Given the description of an element on the screen output the (x, y) to click on. 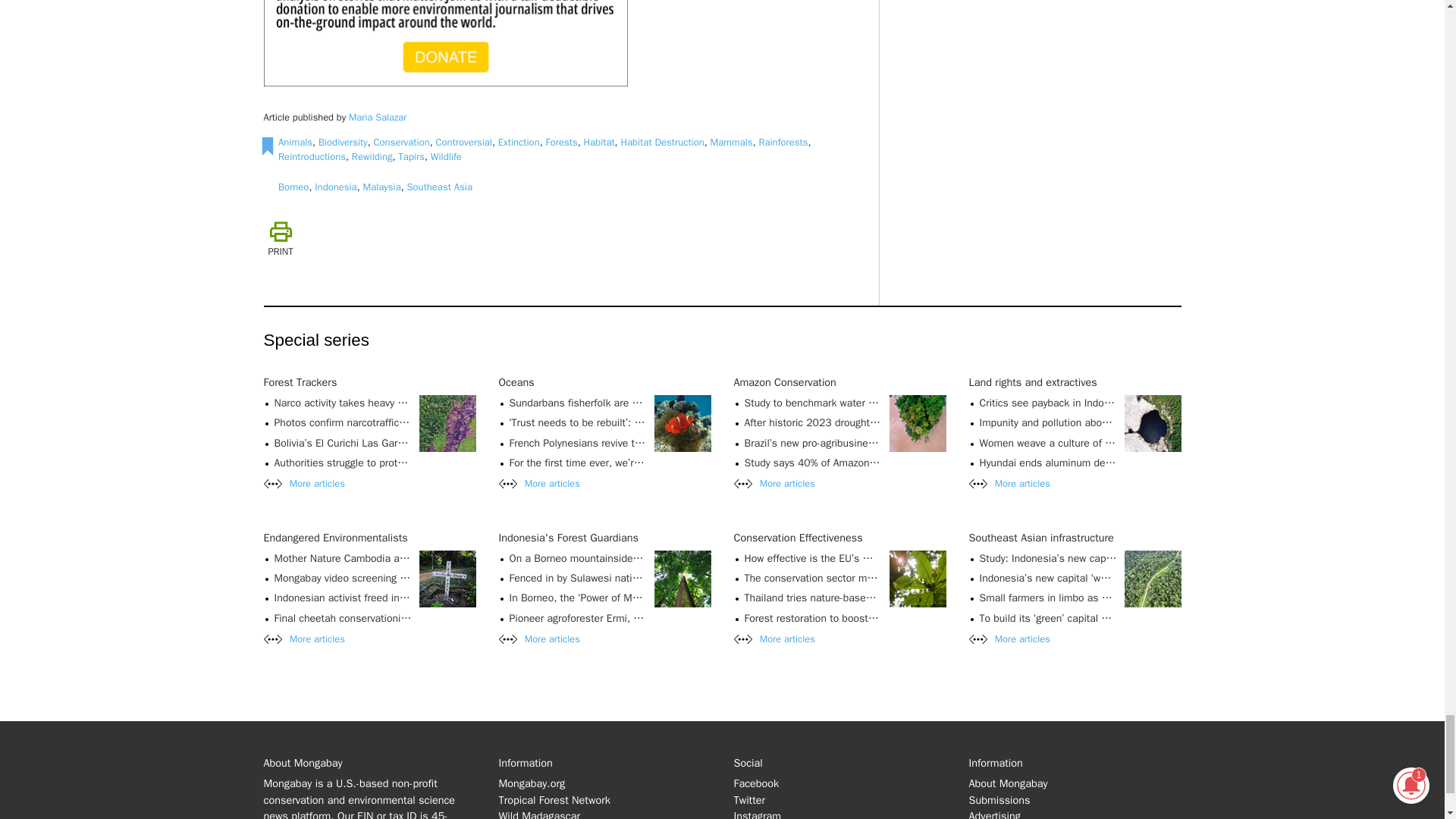
Extinction (518, 141)
Biodiversity (343, 141)
Controversial (463, 141)
Animals (295, 141)
Maria Salazar (377, 117)
Posts by Maria Salazar (377, 117)
Conservation (401, 141)
